Given the description of an element on the screen output the (x, y) to click on. 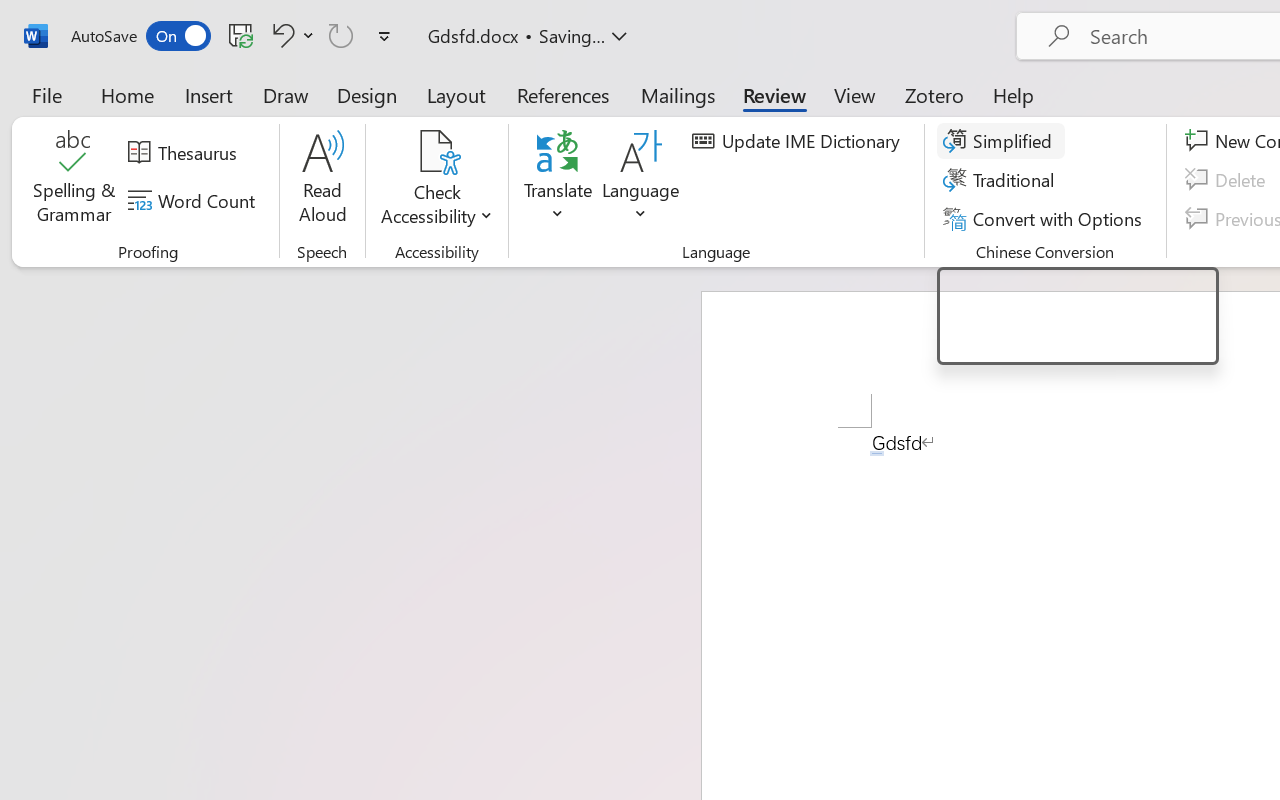
Spelling & Grammar (1077, 315)
Traditional (74, 180)
Check Accessibility (1001, 179)
Read Aloud (436, 179)
Word Count (322, 179)
Delete (194, 201)
Language (1227, 179)
Can't Repeat (641, 179)
